Given the description of an element on the screen output the (x, y) to click on. 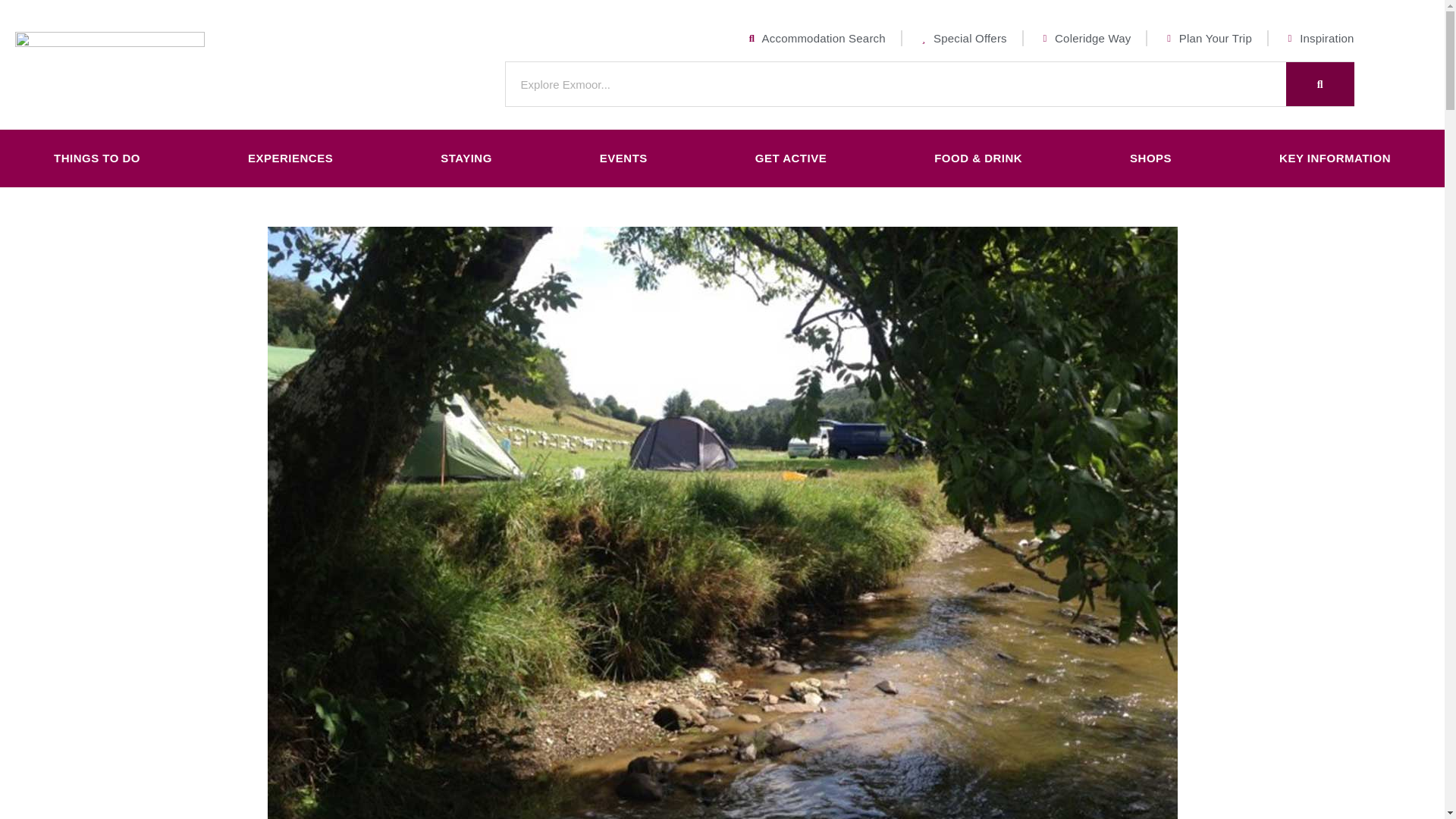
Coleridge Way (1085, 37)
Search (1319, 84)
GET ACTIVE (790, 158)
Special Offers (962, 37)
THINGS TO DO (96, 158)
Inspiration (1319, 37)
STAYING (466, 158)
Plan Your Trip (1205, 37)
Accommodation Search (815, 37)
EXPERIENCES (290, 158)
